Given the description of an element on the screen output the (x, y) to click on. 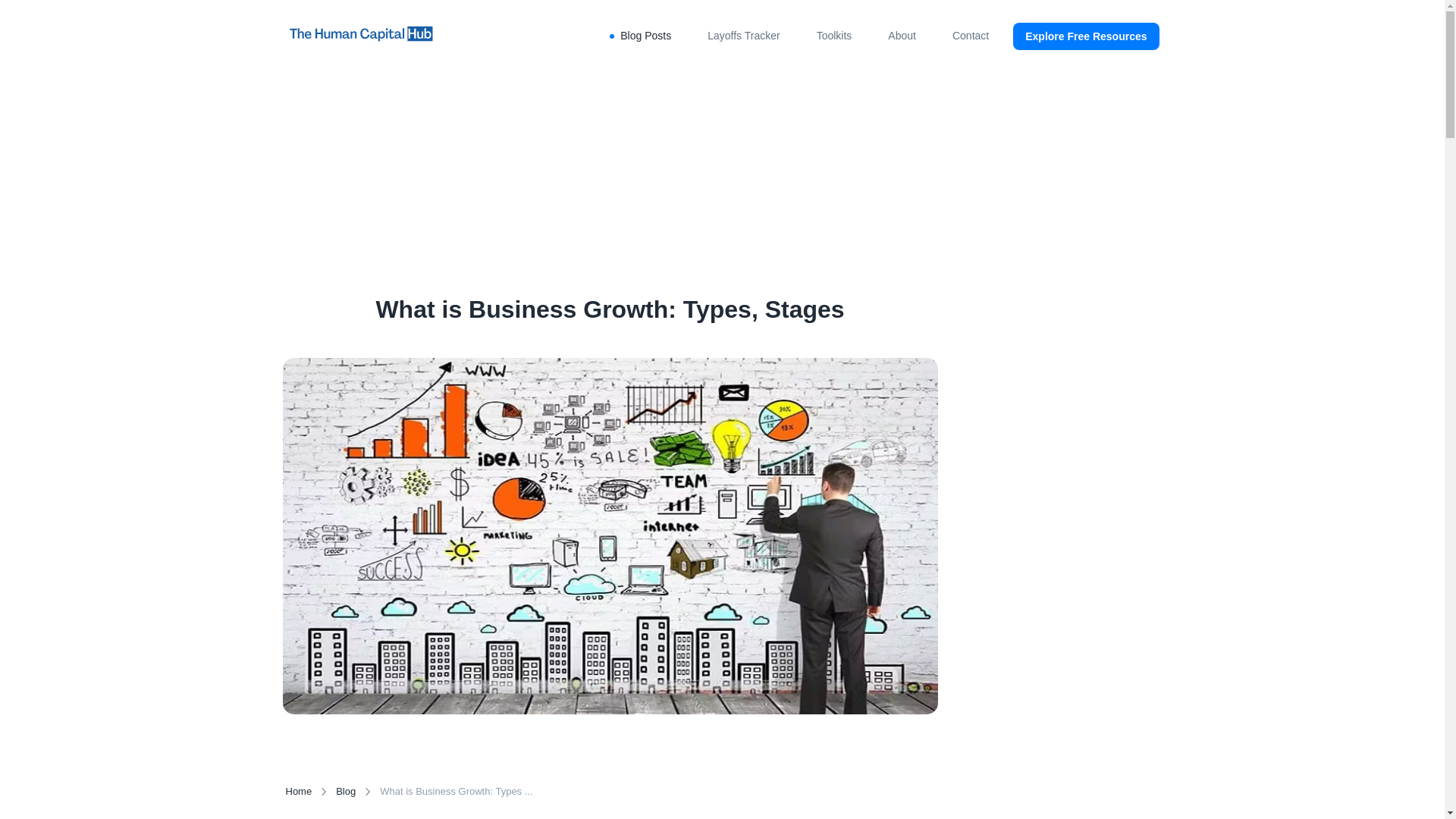
Toolkits (833, 35)
Explore Free Resources (1085, 35)
Home (298, 791)
About (901, 35)
Blog (345, 791)
Contact (970, 35)
Layoffs Tracker (742, 35)
Blog Posts (645, 35)
